Given the description of an element on the screen output the (x, y) to click on. 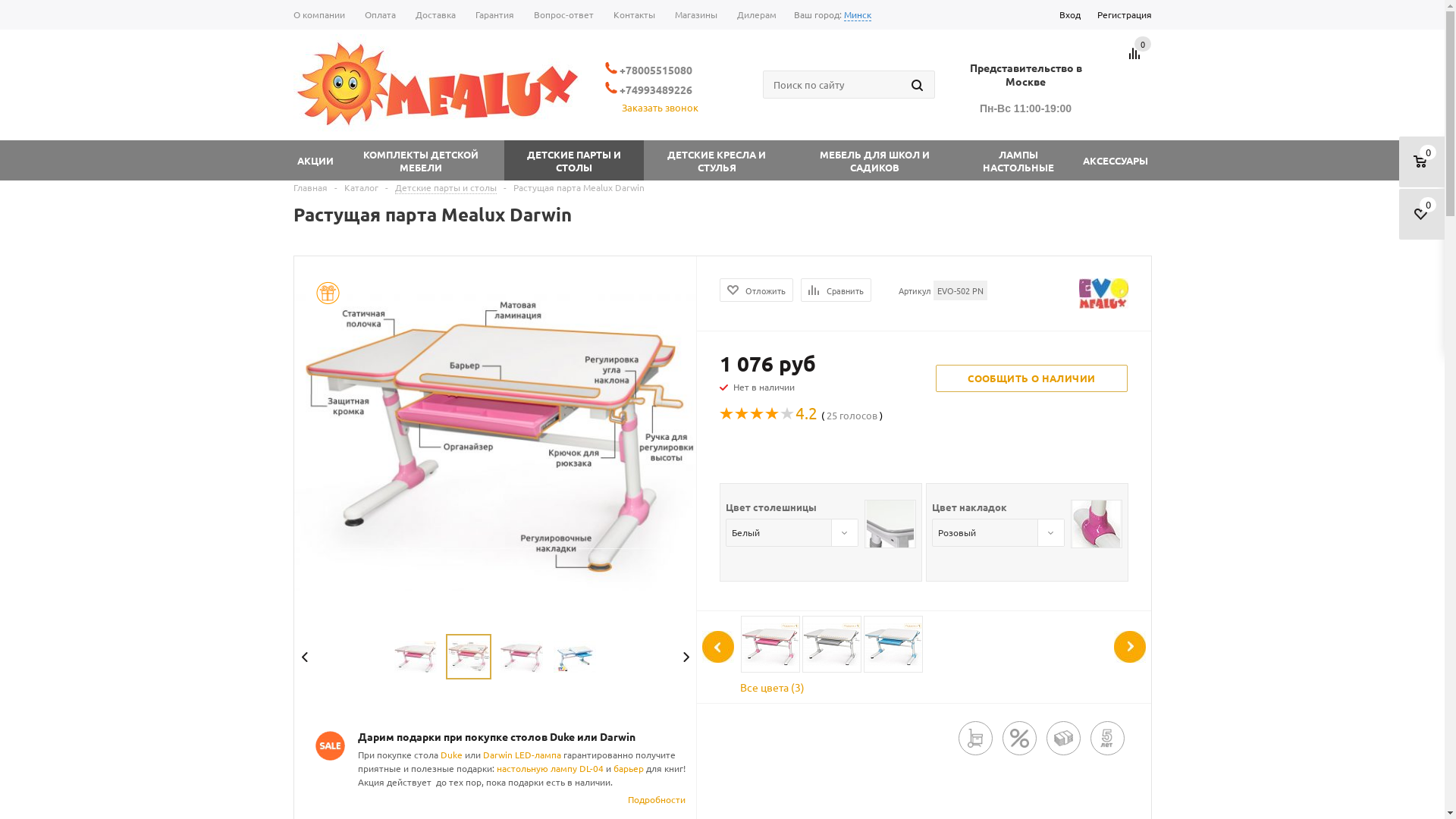
Next Element type: text (685, 657)
evo-502-PN-line Element type: hover (468, 656)
0 Element type: text (1142, 43)
evo-502-PN-line Element type: hover (495, 439)
D Element type: text (442, 754)
1 Element type: hover (726, 413)
3 Element type: text (500, 610)
LOGO-NEW.jpg Element type: hover (436, 84)
clean_picture_evo-502_pn Element type: hover (897, 586)
5 Element type: hover (787, 413)
evo-502-PN-line Element type: hover (495, 586)
rwin Element type: text (503, 754)
+74993489226 Element type: text (648, 89)
Da Element type: text (487, 754)
clean_picture_evo-502_pn Element type: hover (521, 656)
uke Element type: text (454, 754)
2 Element type: hover (741, 413)
2 Element type: text (486, 610)
4 Element type: text (599, 768)
clean_picture_evo-502_pn Element type: hover (897, 439)
3 Element type: hover (757, 413)
4 Element type: hover (772, 413)
Mealux EVO Element type: hover (1102, 293)
Previous Element type: text (305, 657)
+78005515080 Element type: text (648, 69)
4 Element type: text (513, 610)
1 Element type: text (472, 610)
